Given the description of an element on the screen output the (x, y) to click on. 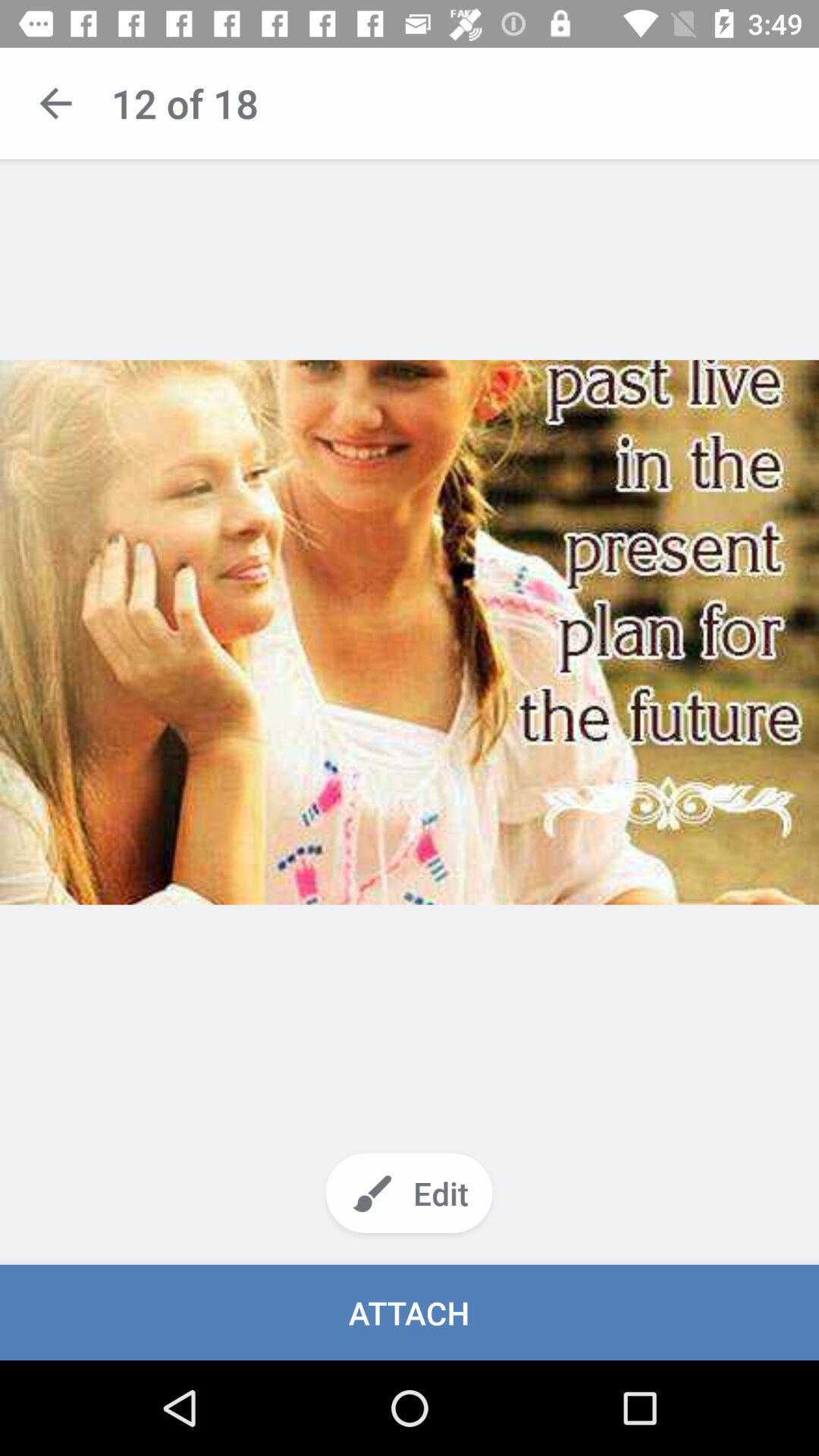
press icon at the top left corner (55, 103)
